Given the description of an element on the screen output the (x, y) to click on. 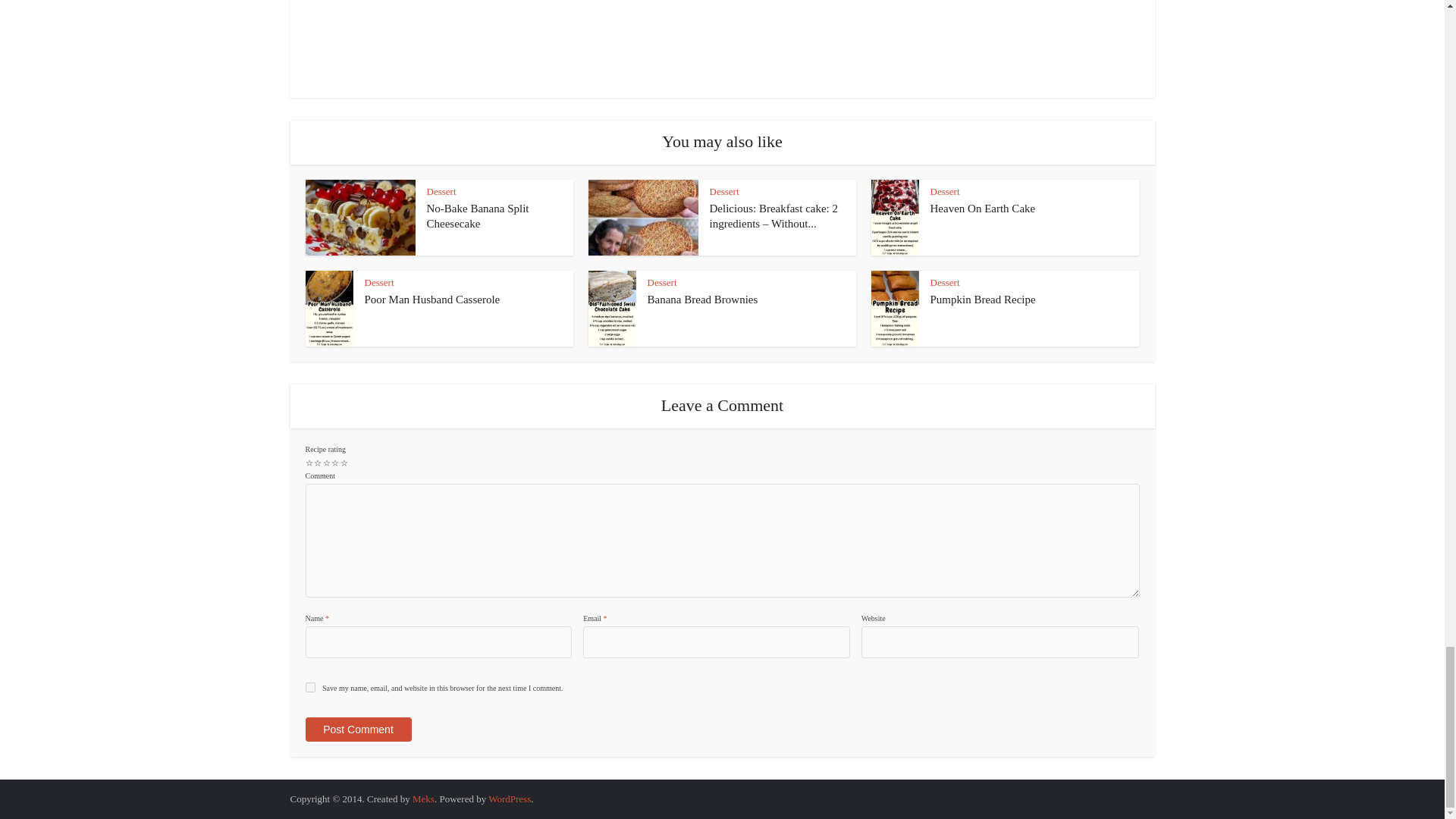
yes (309, 687)
Dessert (378, 282)
No-Bake Banana Split Cheesecake (477, 216)
Dessert (724, 191)
Dessert (944, 191)
Heaven On Earth Cake (982, 208)
Poor Man Husband Casserole (431, 299)
Post Comment (357, 729)
Heaven On Earth Cake (982, 208)
No-Bake Banana Split Cheesecake (477, 216)
